Given the description of an element on the screen output the (x, y) to click on. 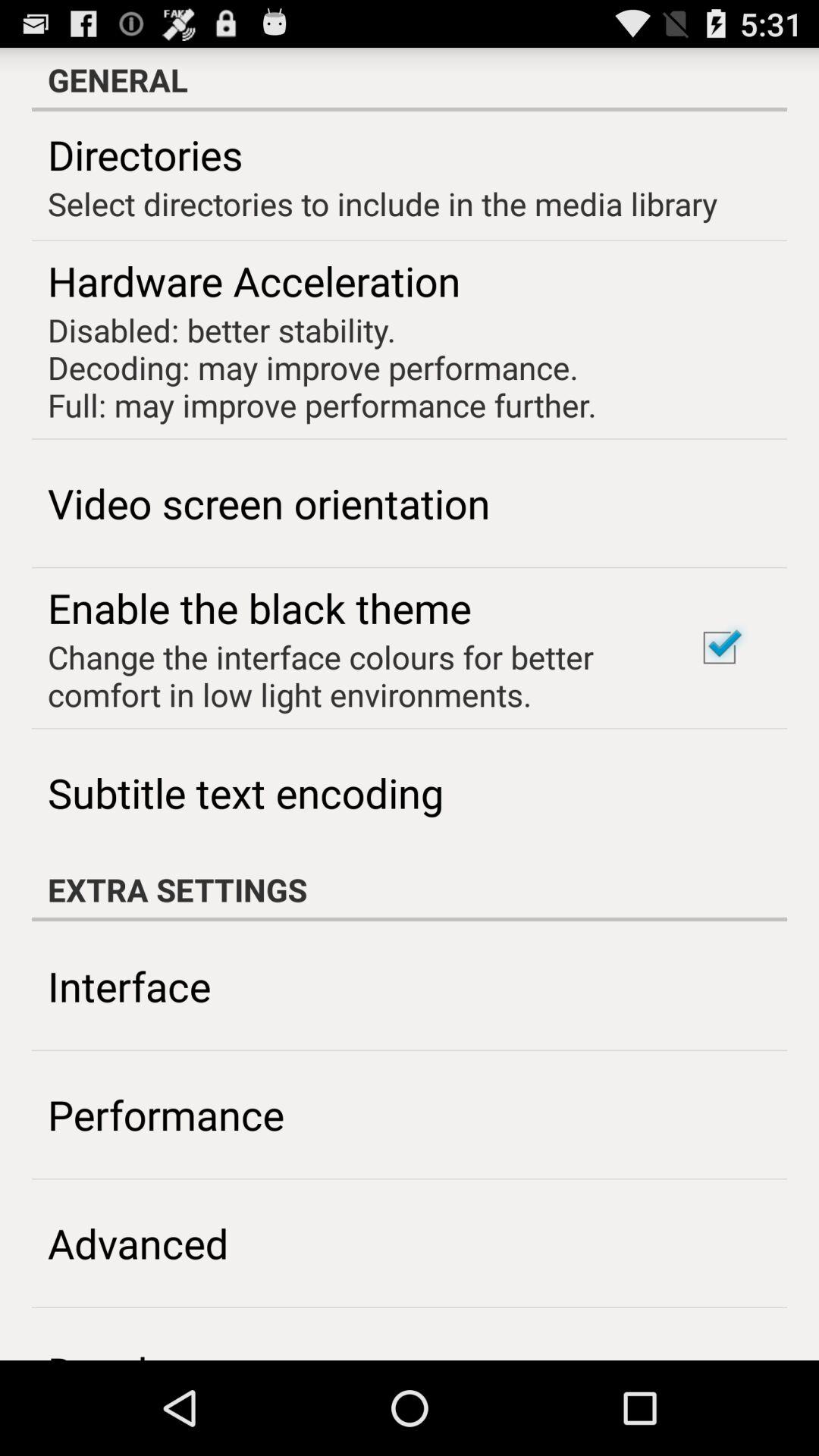
press item below select directories to app (719, 647)
